Given the description of an element on the screen output the (x, y) to click on. 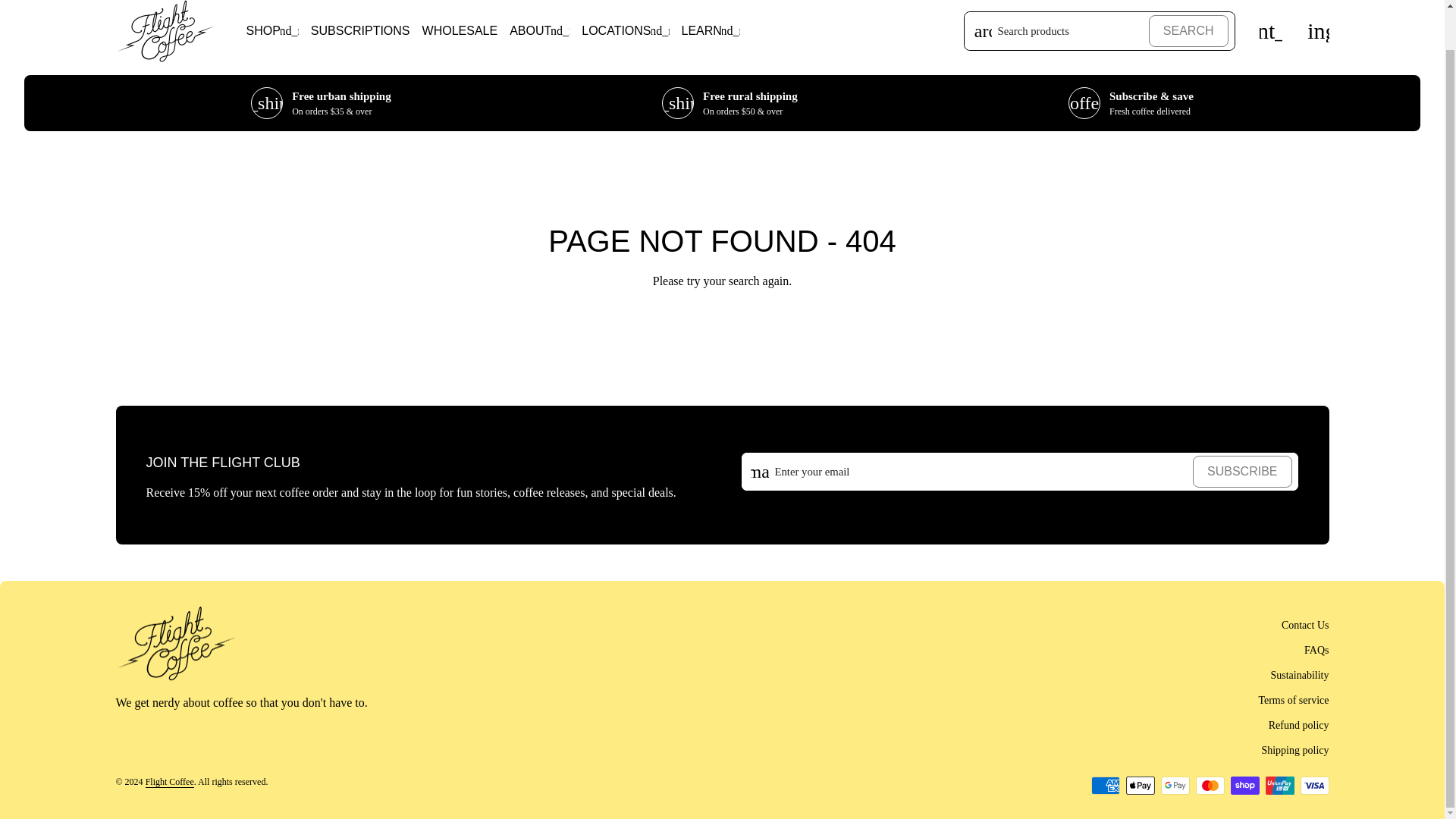
Subscribe (1241, 471)
